Given the description of an element on the screen output the (x, y) to click on. 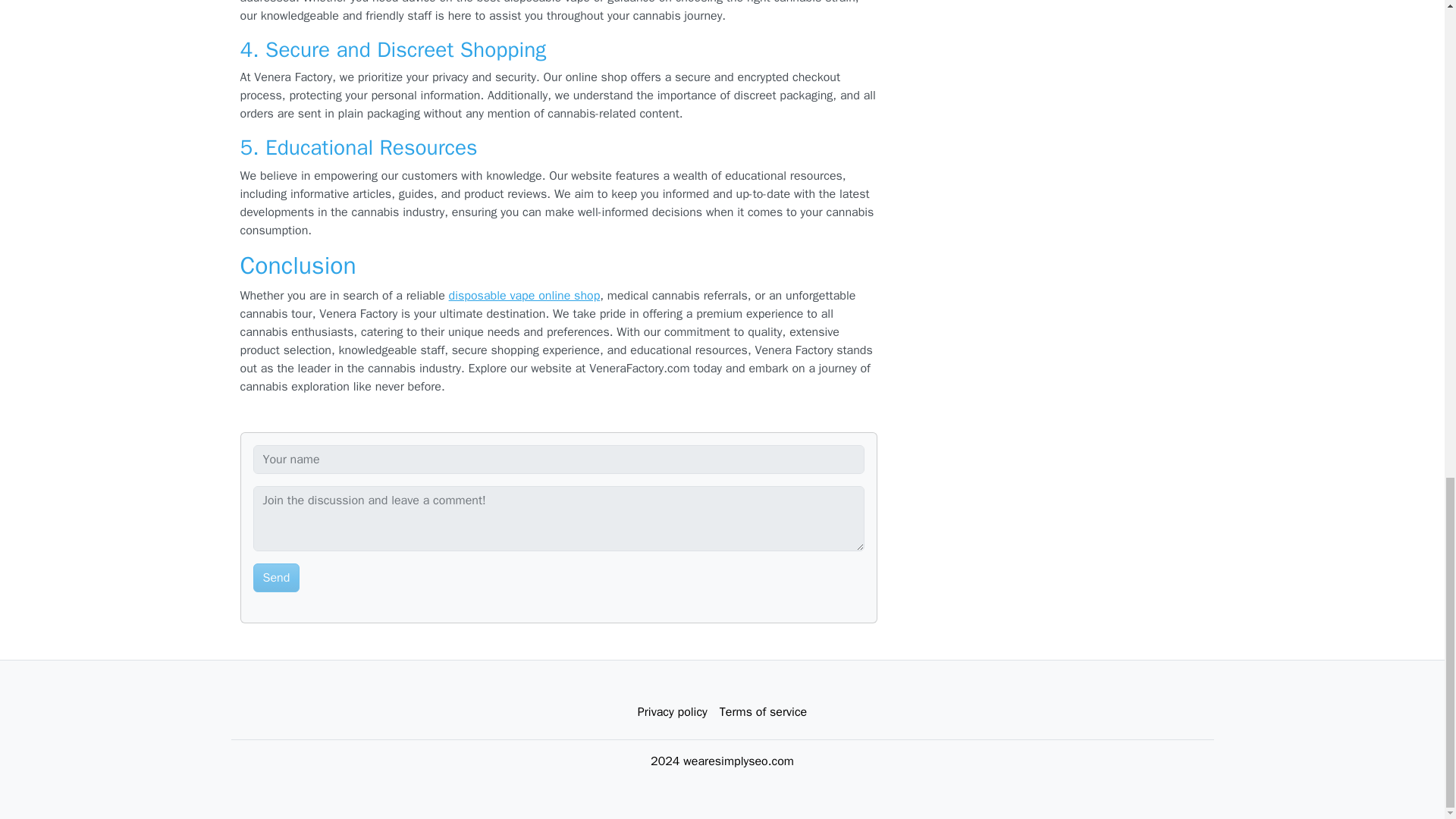
Send (276, 577)
disposable vape online shop (523, 295)
Privacy policy (672, 711)
Send (276, 577)
Terms of service (762, 711)
